Given the description of an element on the screen output the (x, y) to click on. 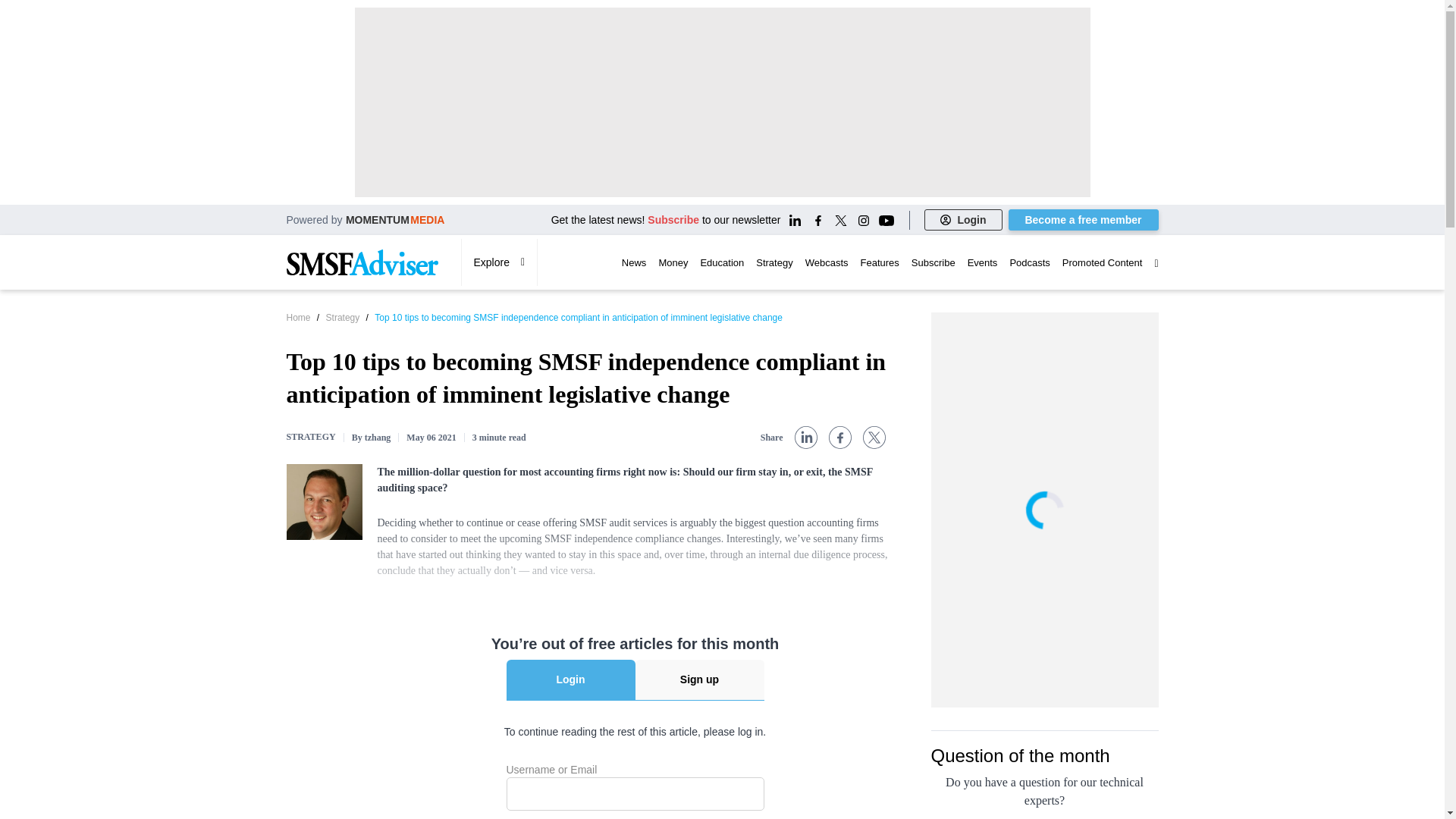
MOMENTUM MEDIA (395, 219)
Subscribe (672, 219)
Become a free member (1083, 219)
Login (962, 219)
